Given the description of an element on the screen output the (x, y) to click on. 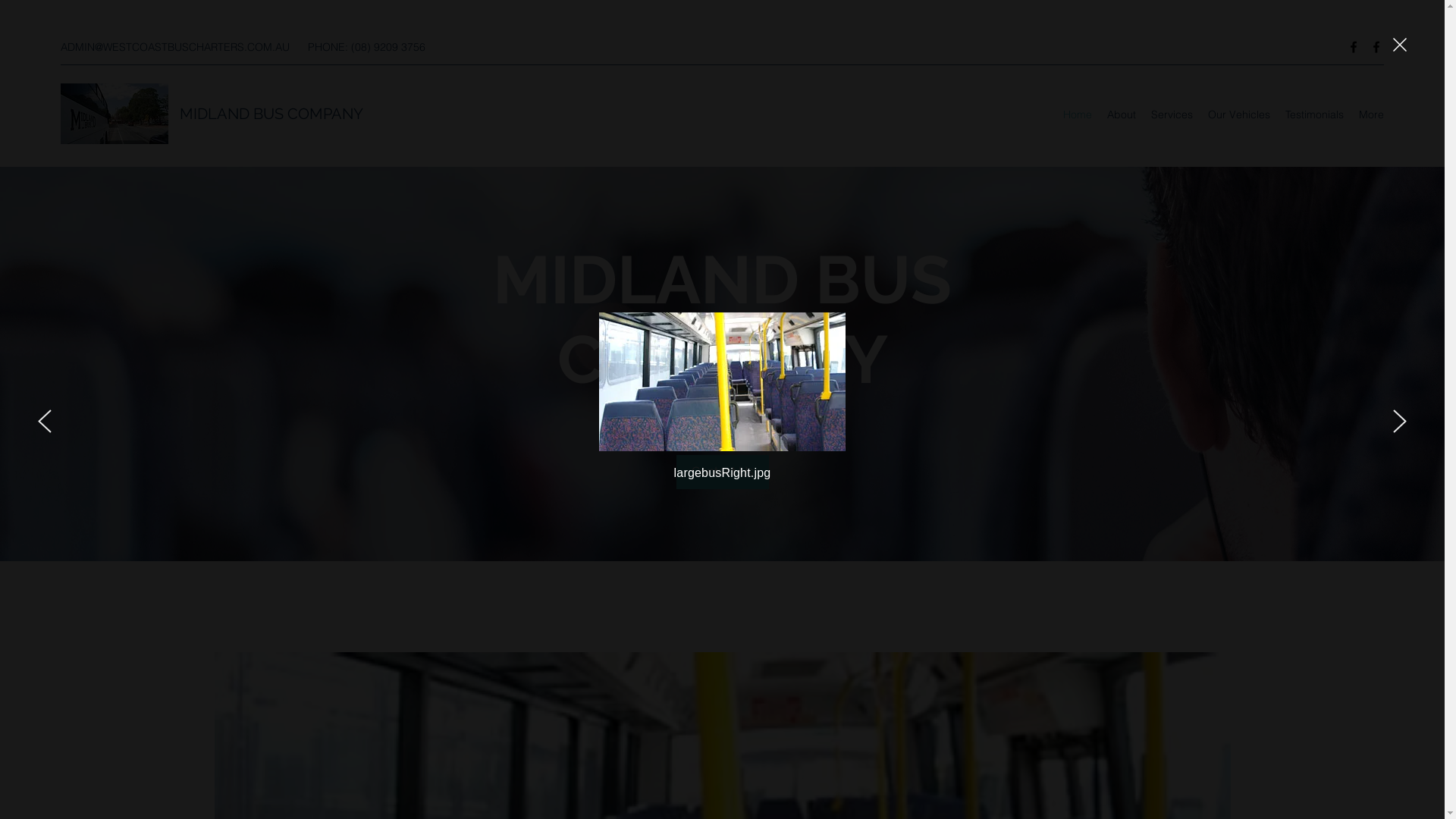
ADMIN@WESTCOASTBUSCHARTERS.COM.AU Element type: text (174, 46)
About Element type: text (1121, 114)
Home Element type: text (1077, 114)
Contact Us Element type: text (722, 472)
Our Vehicles Element type: text (1238, 114)
Services Element type: text (1171, 114)
Testimonials Element type: text (1314, 114)
